Given the description of an element on the screen output the (x, y) to click on. 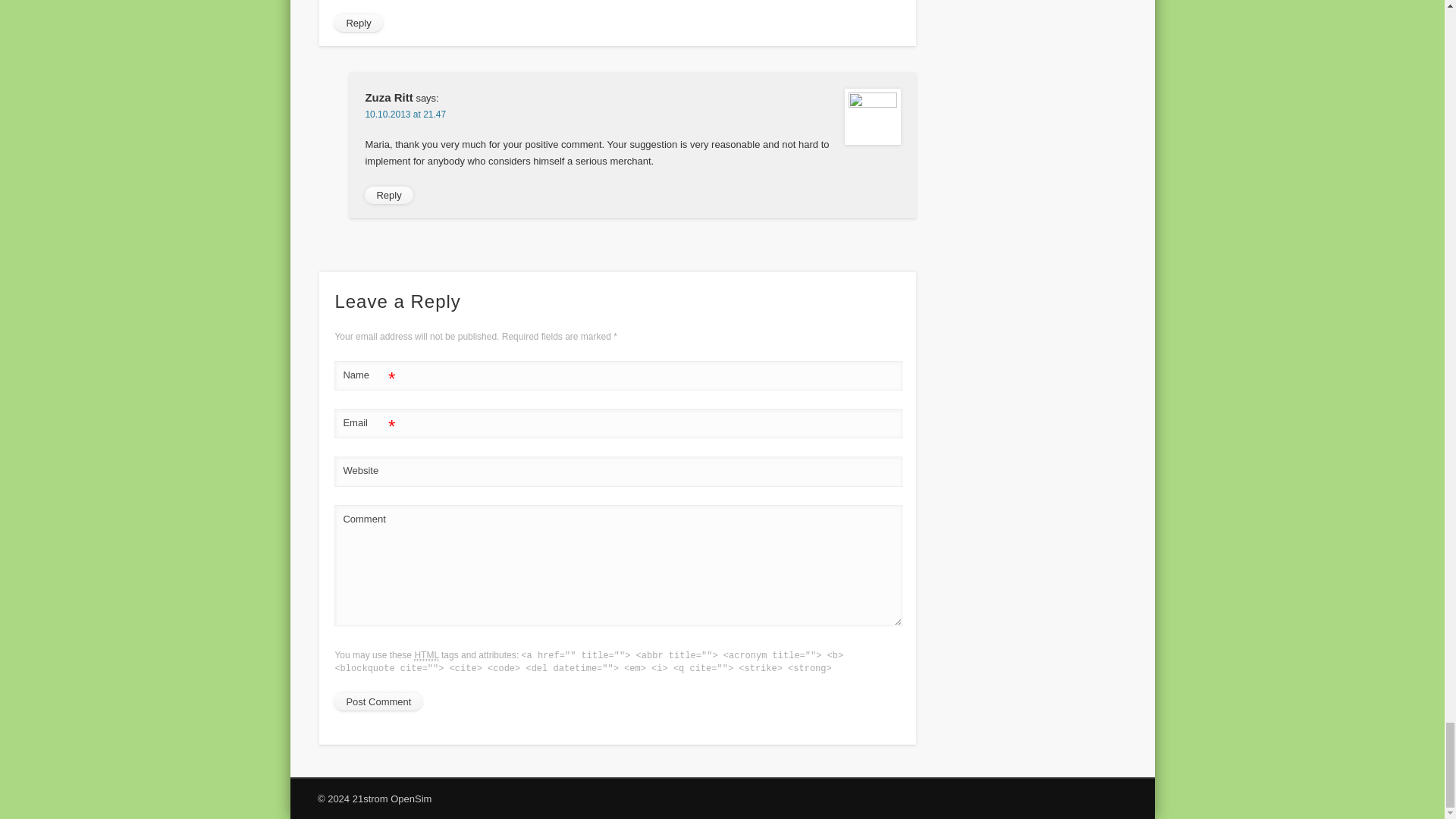
Post Comment (378, 701)
HyperText Markup Language (425, 655)
